Given the description of an element on the screen output the (x, y) to click on. 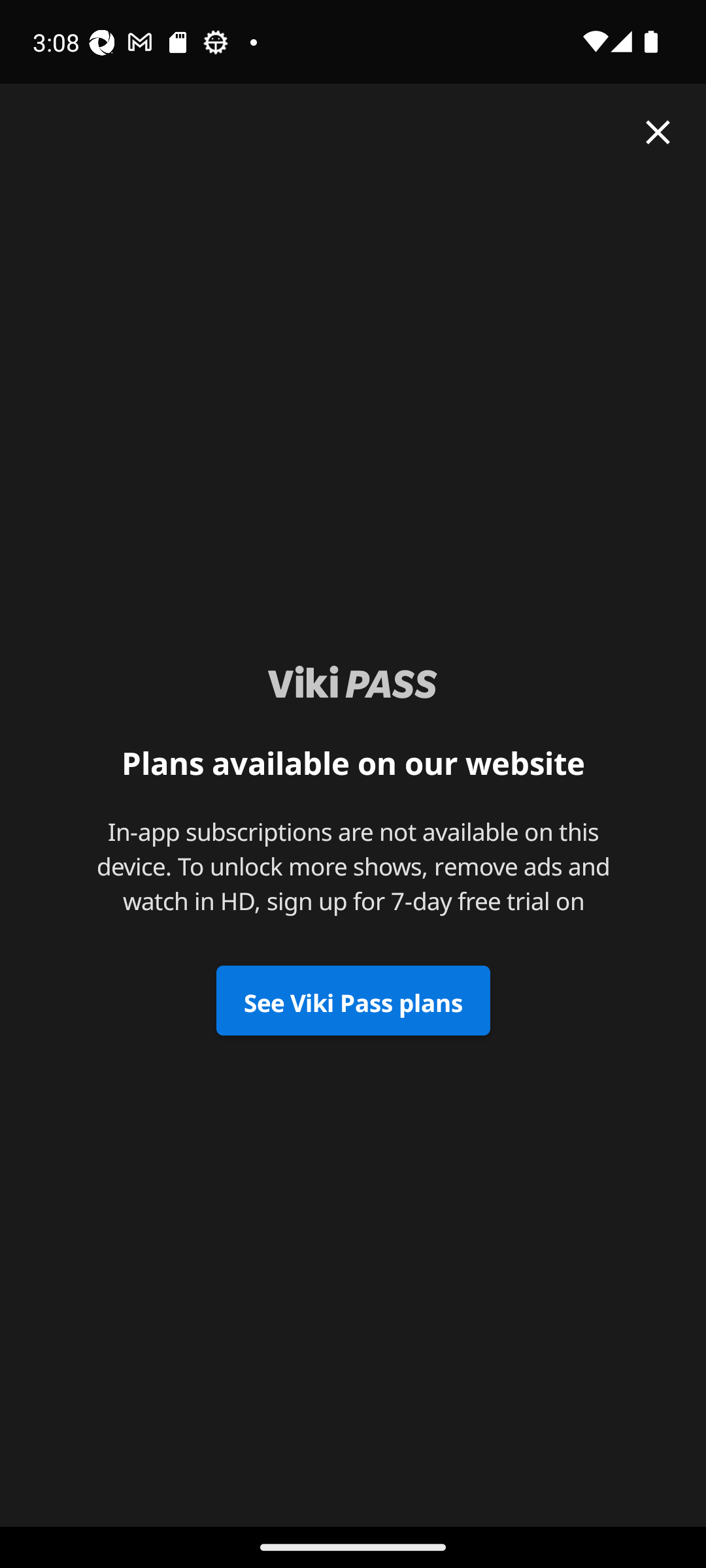
close_button (658, 132)
See Viki Pass plans (352, 1000)
